Given the description of an element on the screen output the (x, y) to click on. 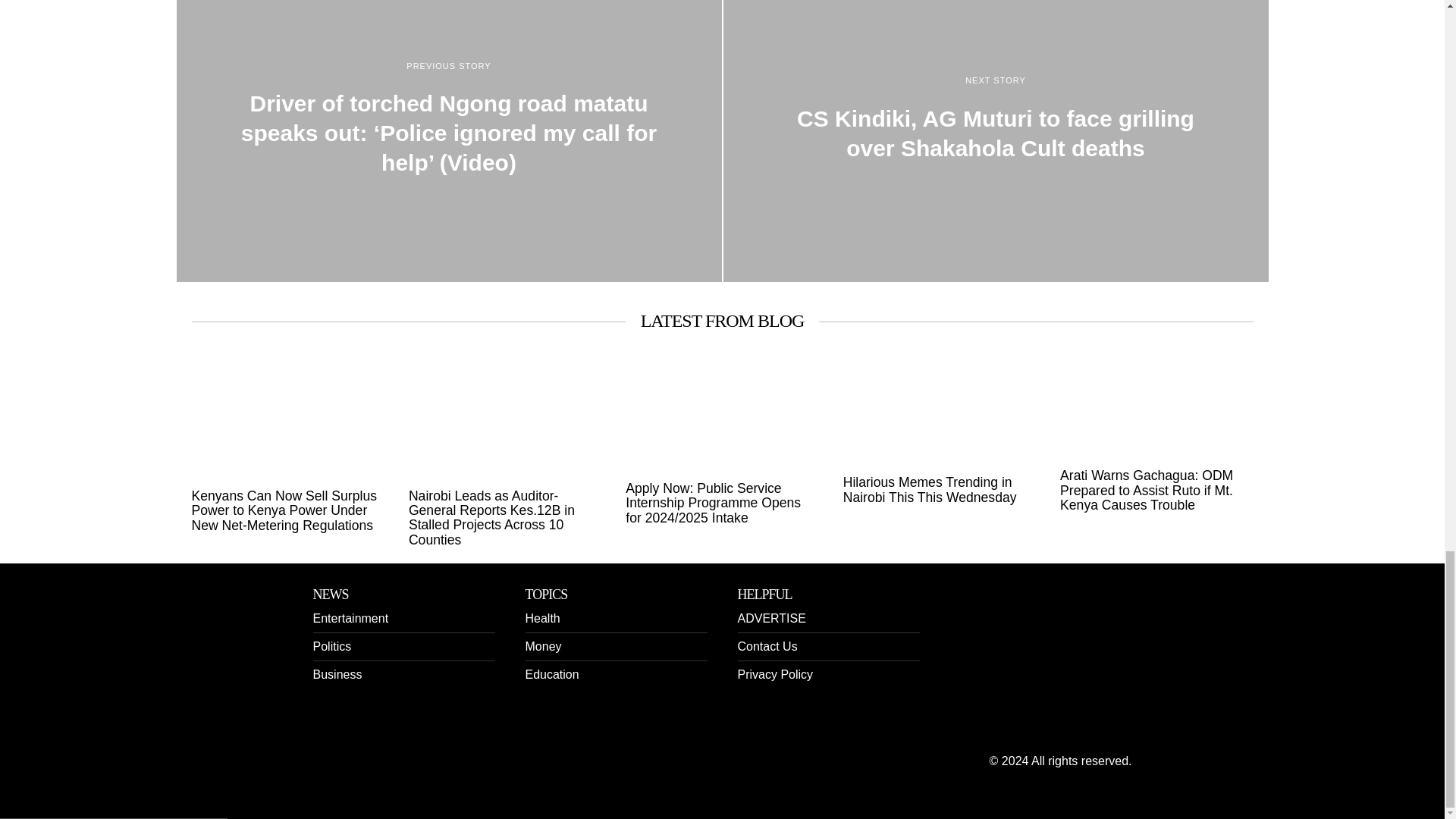
Entertainment (350, 617)
Politics (331, 645)
ADVERTISE (770, 617)
Health (541, 617)
Money (542, 645)
Business (337, 674)
Hilarious Memes Trending in Nairobi This This Wednesday (939, 490)
